Given the description of an element on the screen output the (x, y) to click on. 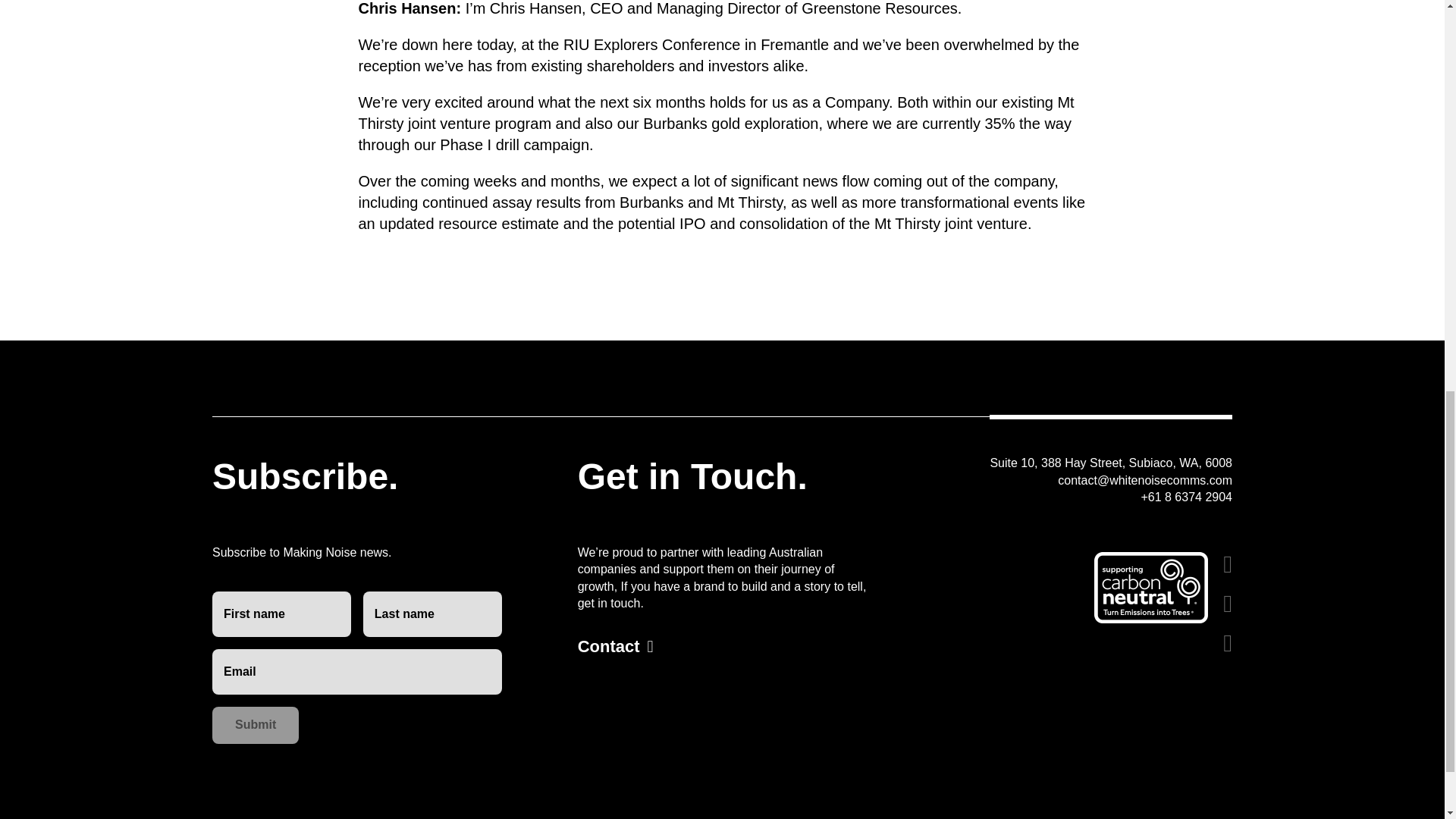
Contact (615, 647)
Submit (255, 724)
Submit (255, 724)
